Given the description of an element on the screen output the (x, y) to click on. 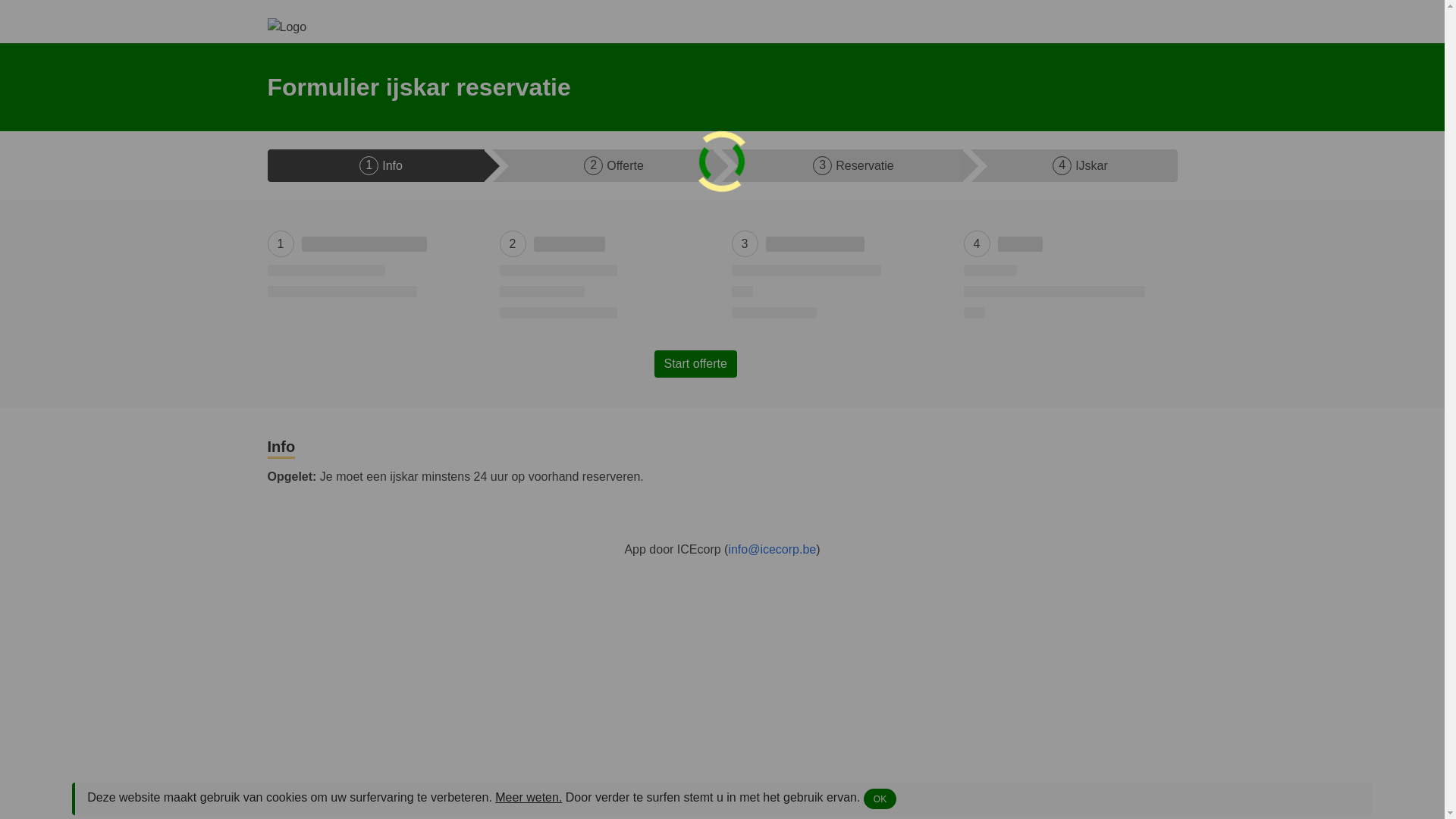
4
IJskar Element type: text (1073, 165)
OK Element type: text (879, 798)
Start offerte Element type: text (694, 363)
1
Info Element type: text (374, 165)
3
Reservatie Element type: text (842, 165)
2
Offerte Element type: text (602, 165)
info@icecorp.be Element type: text (771, 548)
Meer weten. Element type: text (528, 796)
